Given the description of an element on the screen output the (x, y) to click on. 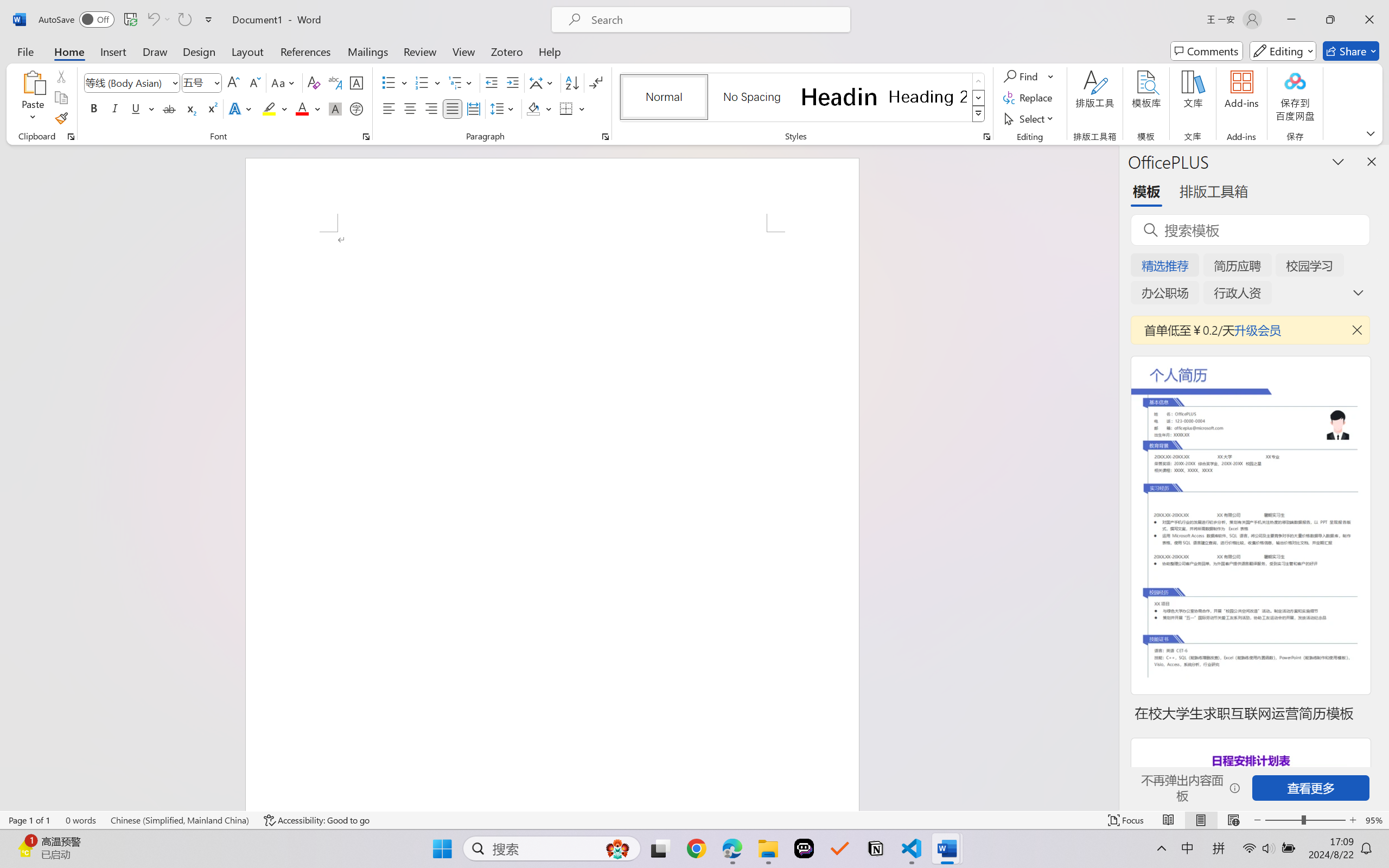
Font Color Red (302, 108)
